Given the description of an element on the screen output the (x, y) to click on. 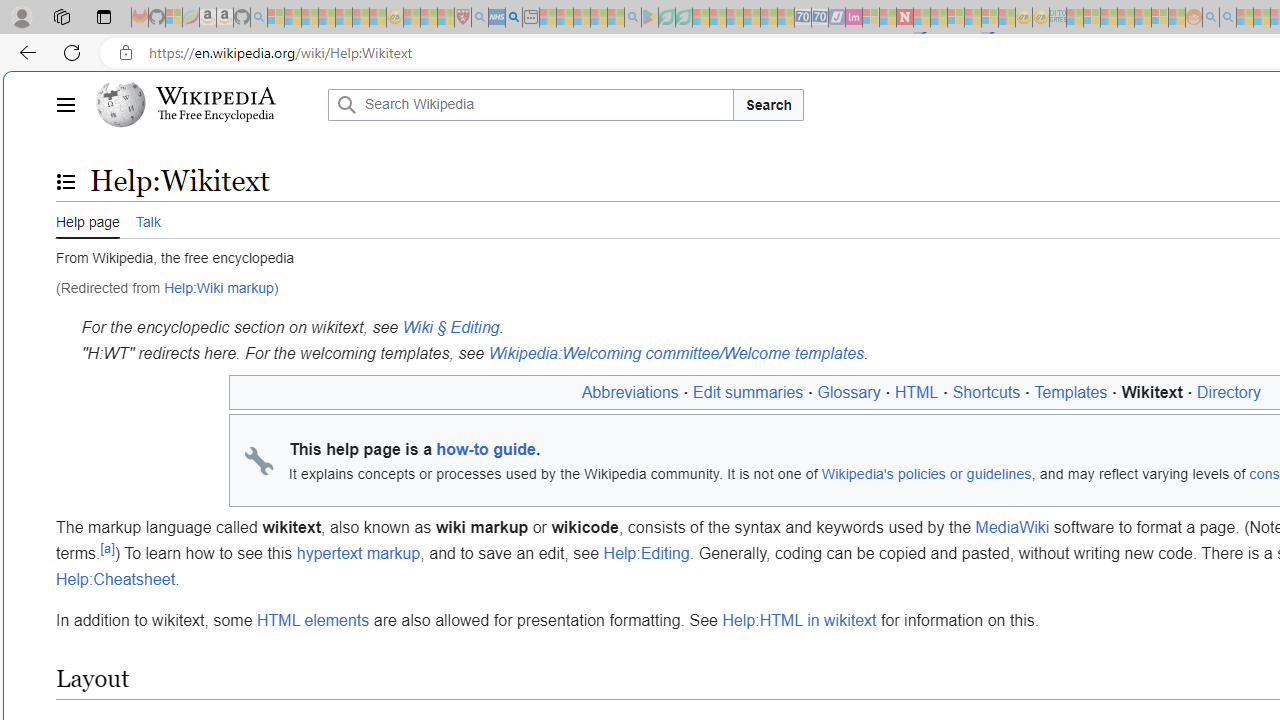
Talk (147, 219)
HTML elements (312, 621)
